Given the description of an element on the screen output the (x, y) to click on. 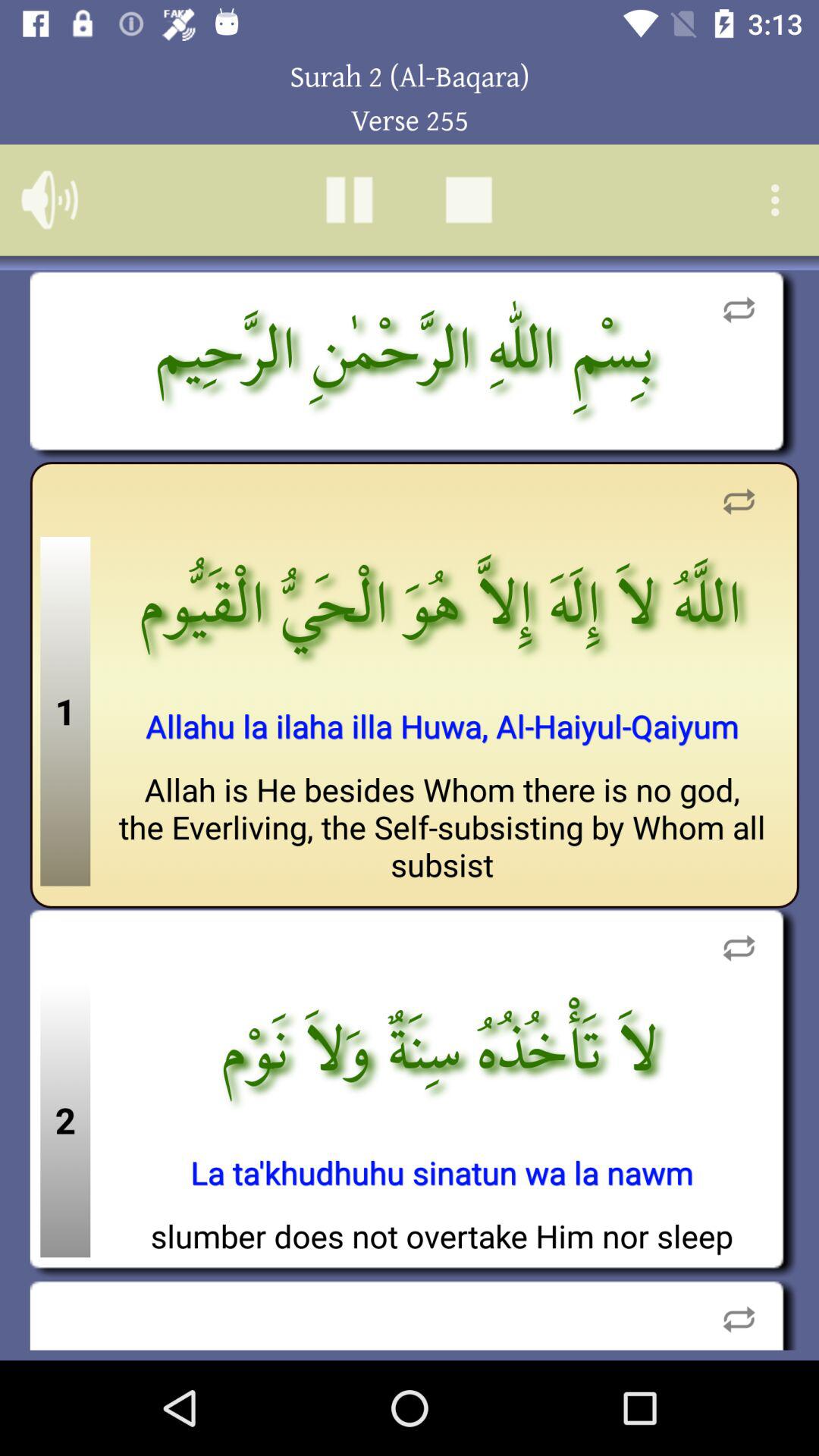
repeat (738, 309)
